Given the description of an element on the screen output the (x, y) to click on. 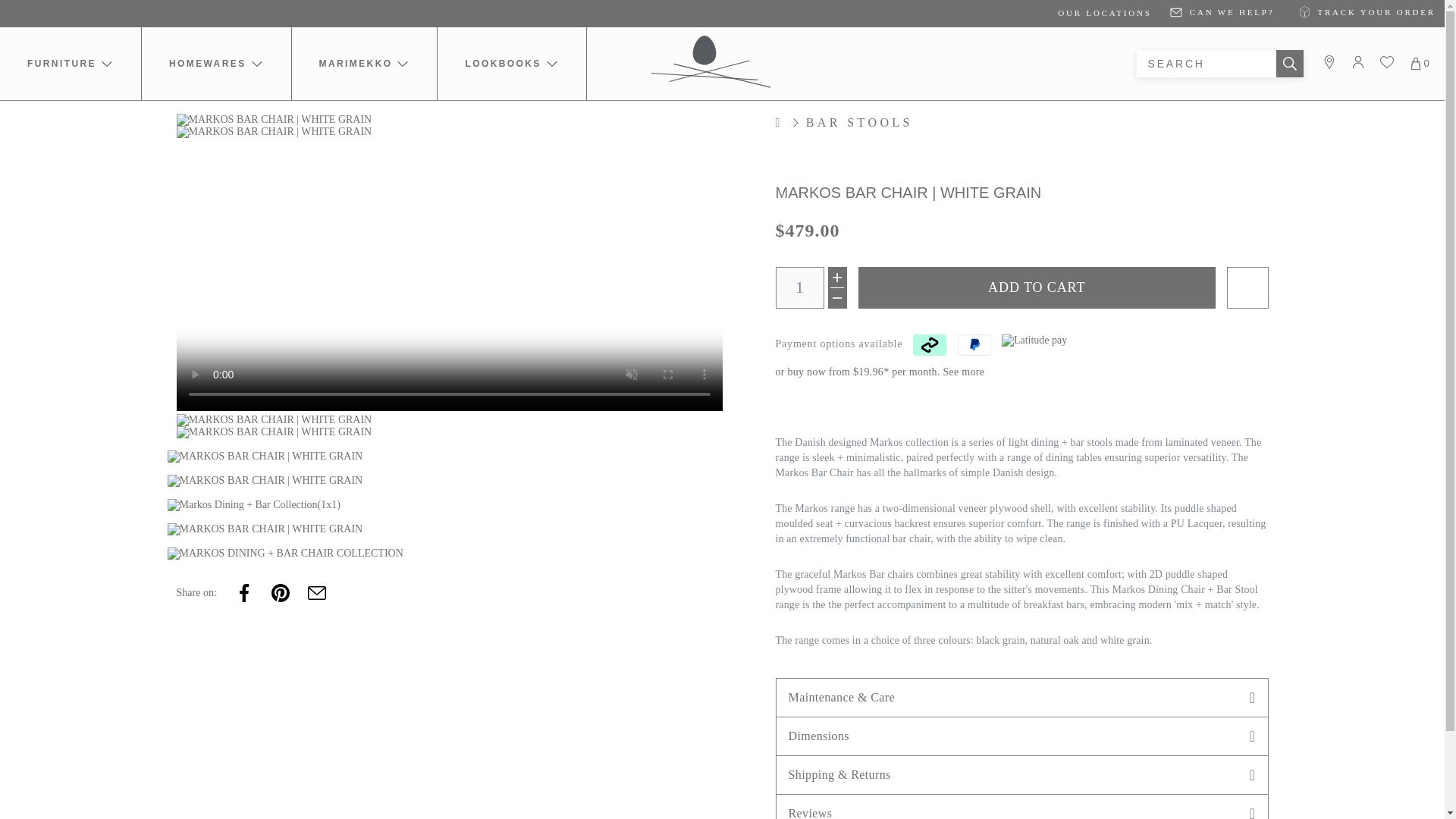
CAN WE HELP? (1222, 11)
1 (799, 287)
OUR LOCATIONS (1104, 12)
FURNITURE (70, 63)
Logo (710, 61)
Homepage (789, 122)
TRACK YOUR ORDER (1363, 11)
Pin on Pinterest (279, 592)
Share on Facebook (243, 592)
